Given the description of an element on the screen output the (x, y) to click on. 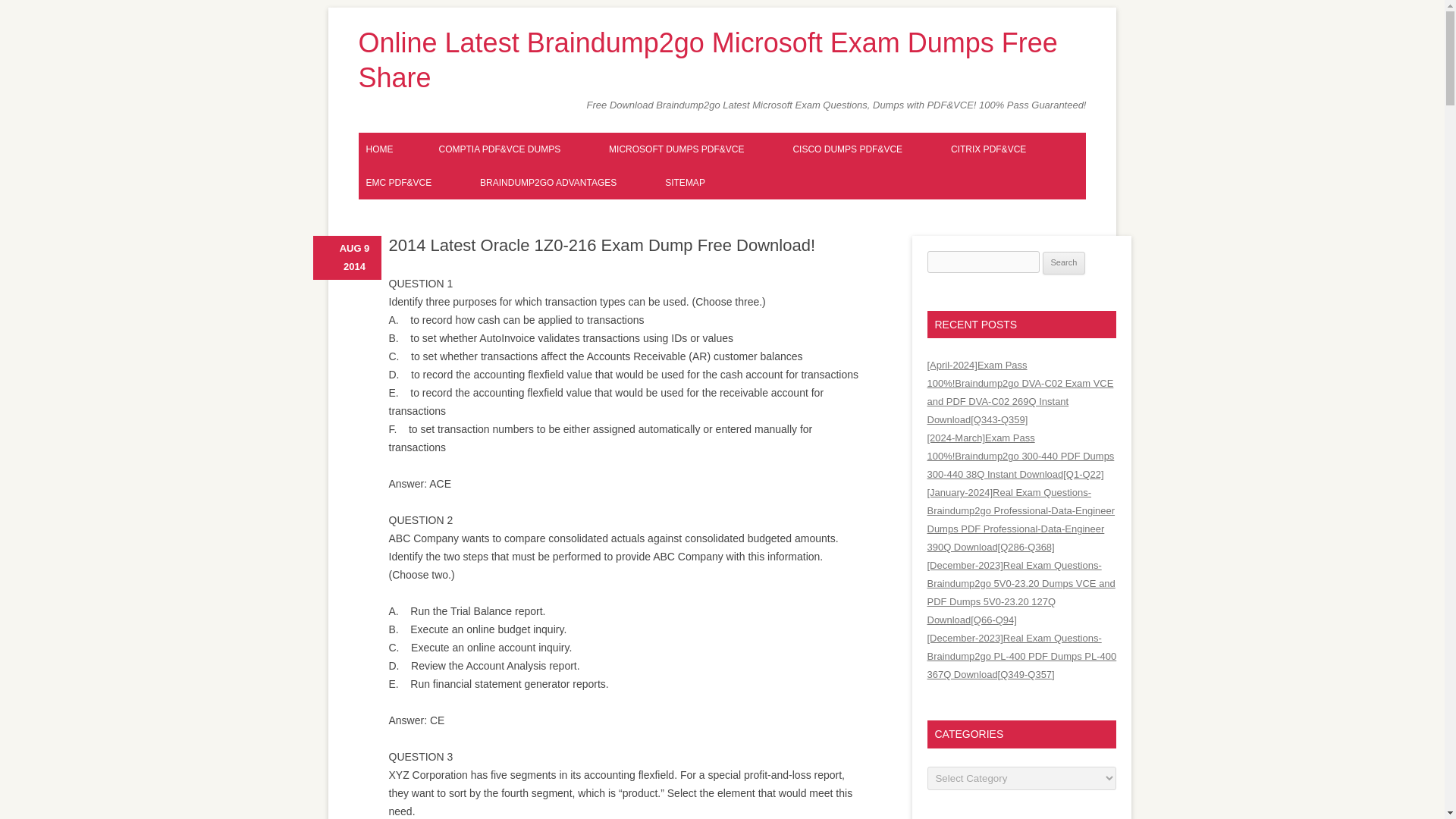
SITEMAP (685, 182)
BRAINDUMP2GO ADVANTAGES (547, 182)
Search (1064, 262)
Search (1064, 262)
Online Latest Braindump2go Microsoft Exam Dumps Free Share (722, 60)
Online Latest Braindump2go Microsoft Exam Dumps Free Share (722, 60)
HOME (379, 149)
